Given the description of an element on the screen output the (x, y) to click on. 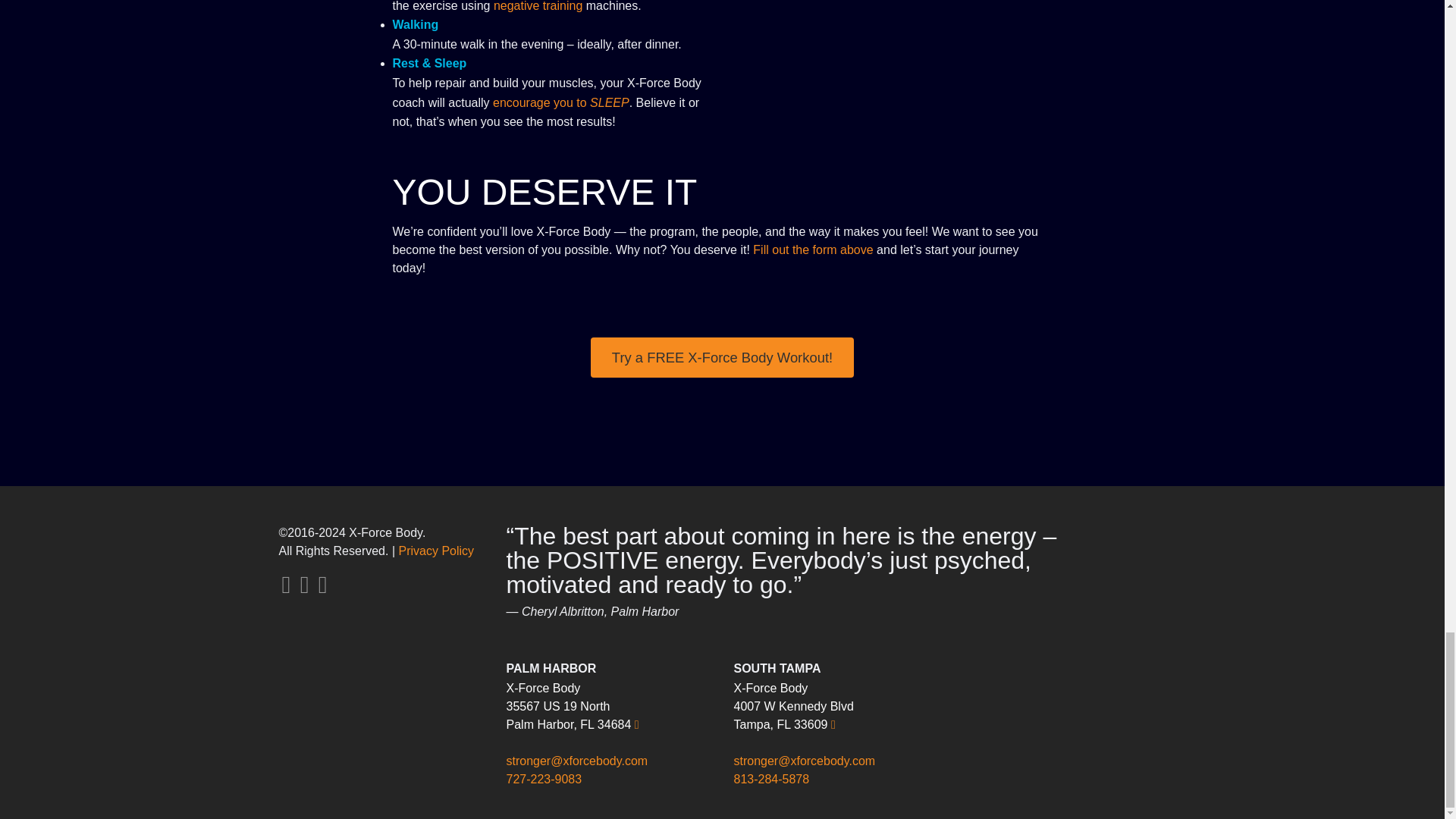
negative training (537, 6)
Try a FREE X-Force Body Workout! (722, 357)
Privacy Policy (436, 550)
Fill out the form above (812, 249)
encourage you to SLEEP (560, 102)
